Given the description of an element on the screen output the (x, y) to click on. 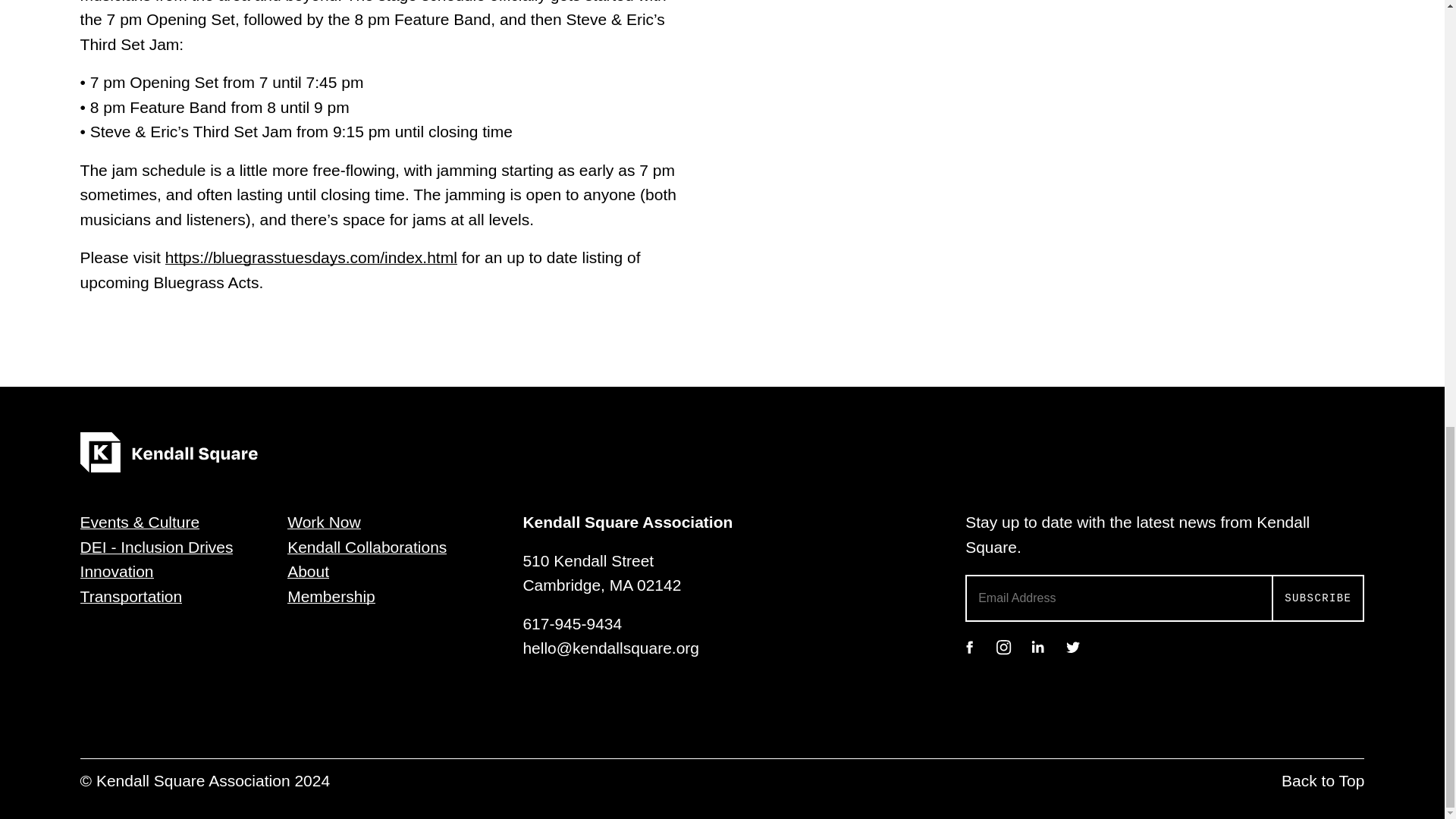
subscribe (1317, 597)
DEI - Inclusion Drives Innovation (156, 559)
Transportation (131, 596)
Work Now (322, 521)
Back to Top (1322, 780)
